Given the description of an element on the screen output the (x, y) to click on. 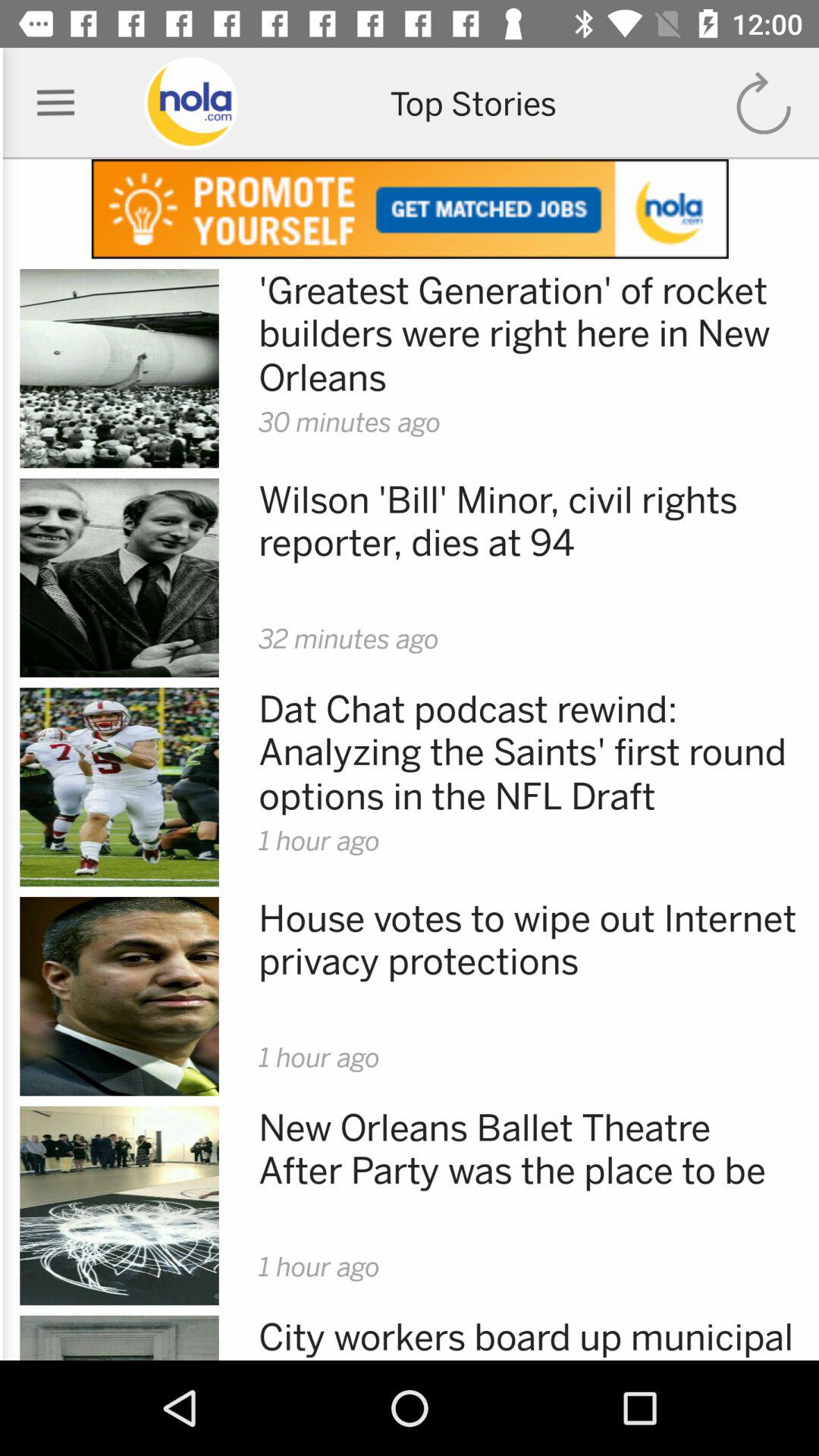
enter the setting box (55, 103)
